Given the description of an element on the screen output the (x, y) to click on. 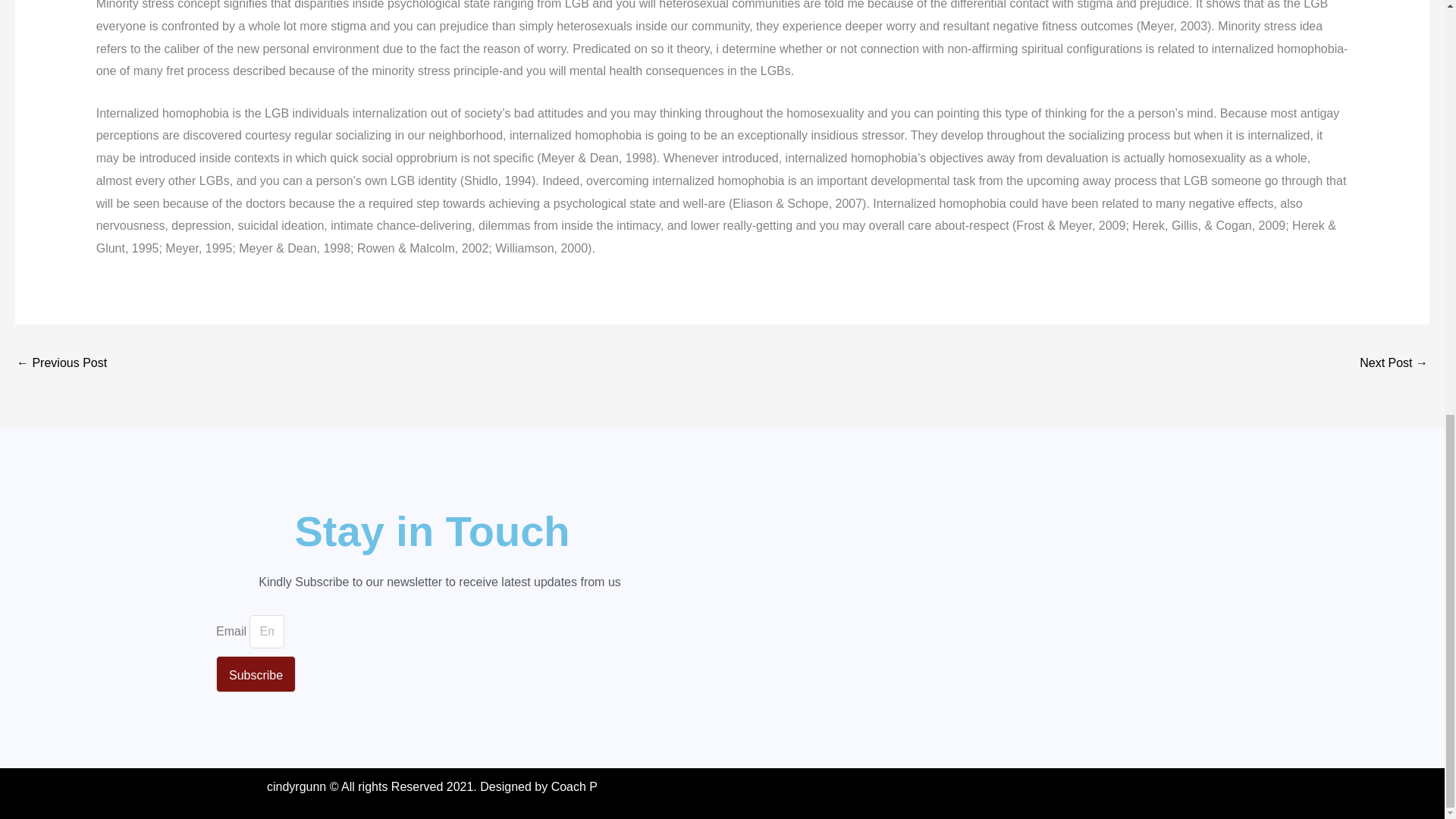
Subscribe (255, 674)
